Given the description of an element on the screen output the (x, y) to click on. 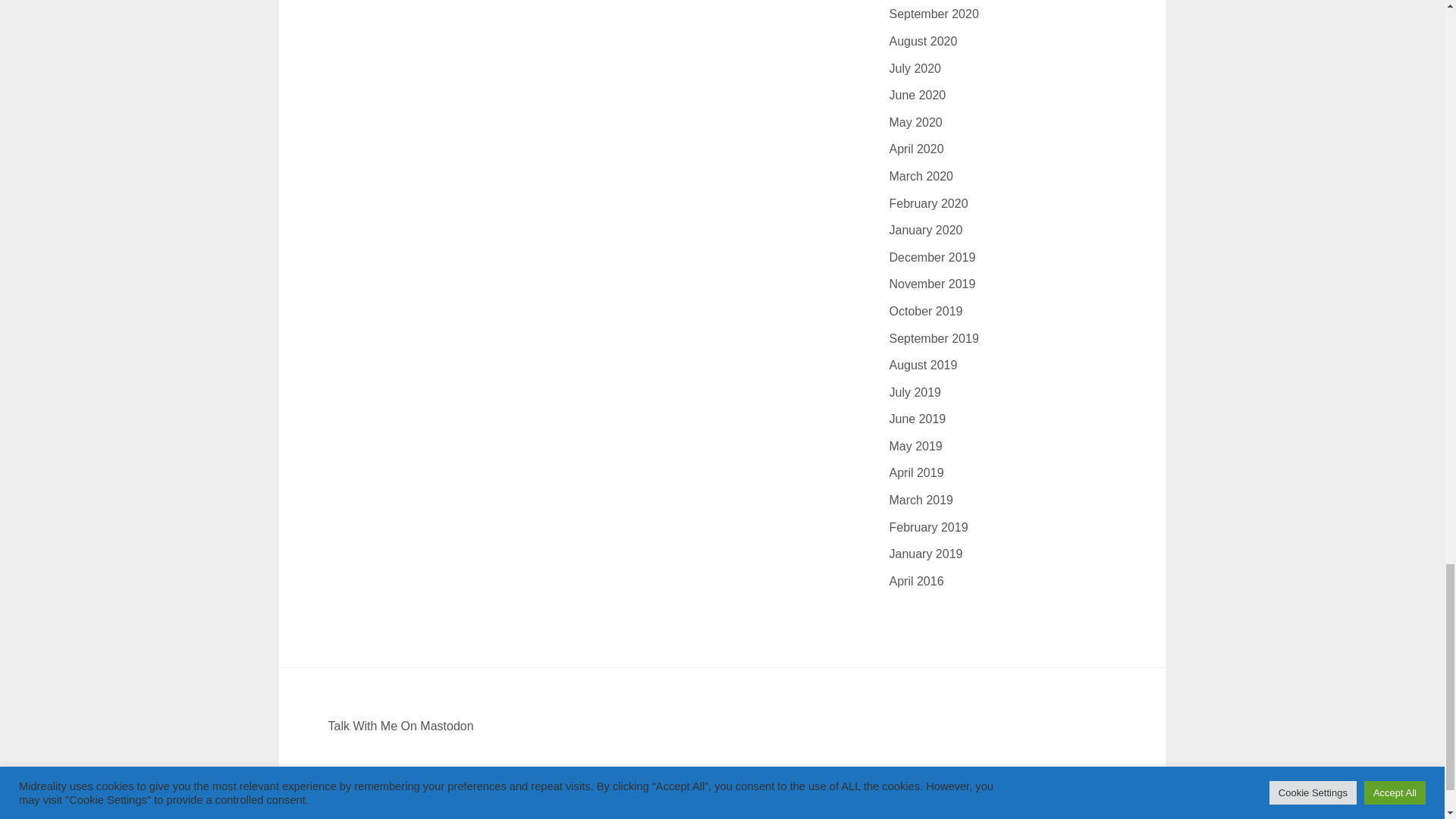
Comment Form (569, 11)
